Given the description of an element on the screen output the (x, y) to click on. 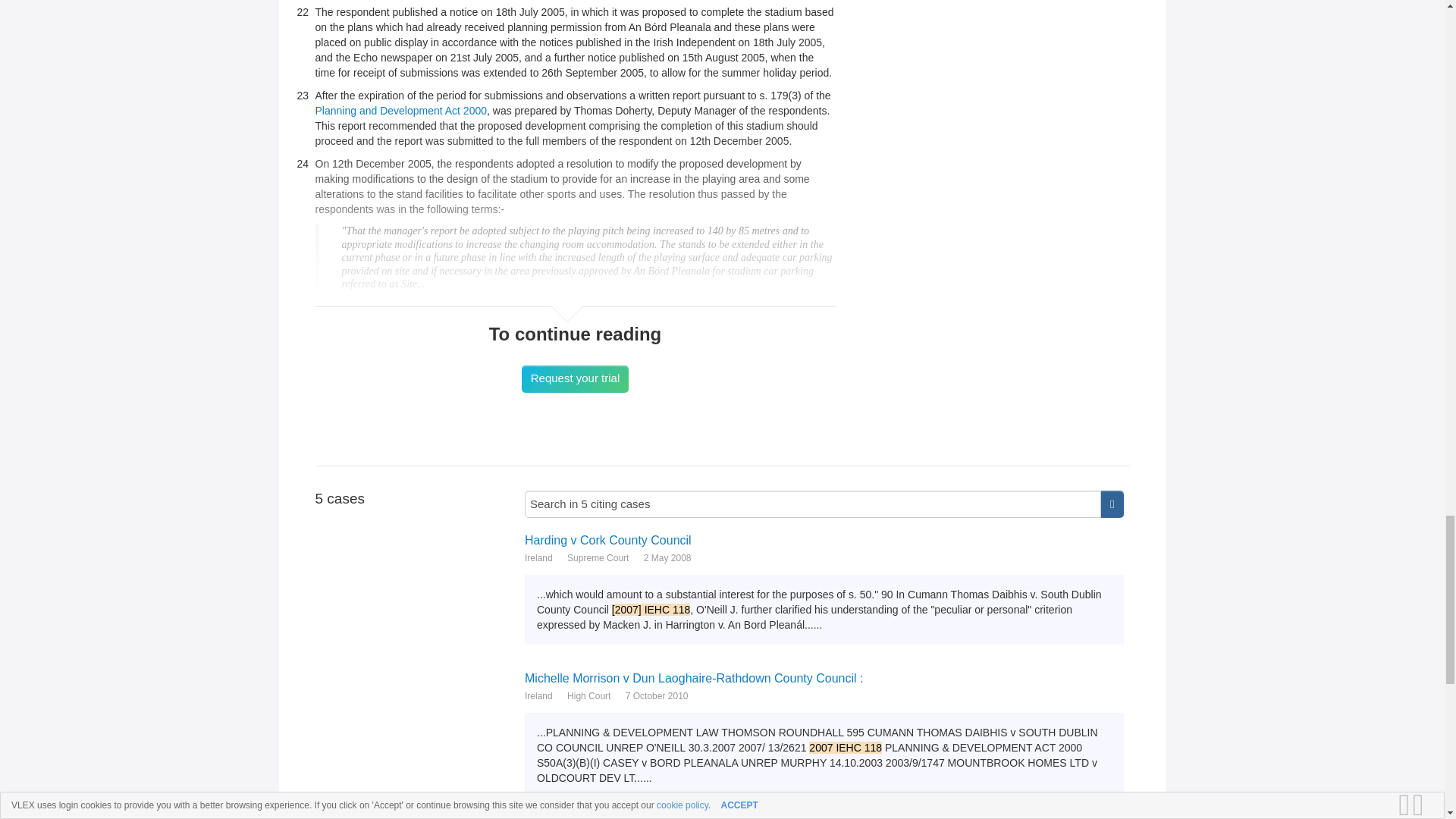
Ireland (538, 557)
Harding v Cork County Council (824, 539)
Michelle Morrison v Dun Laoghaire-Rathdown County Council : (824, 677)
Michelle Morrison v Dun Laoghaire-Rathdown County Council : (824, 677)
High Court (588, 695)
2 May 2008 (667, 557)
Supreme Court (597, 557)
Ireland (538, 695)
7 October 2010 (657, 695)
Planning and Development Act 2000 (401, 110)
Harding v Cork County Council (824, 539)
